Given the description of an element on the screen output the (x, y) to click on. 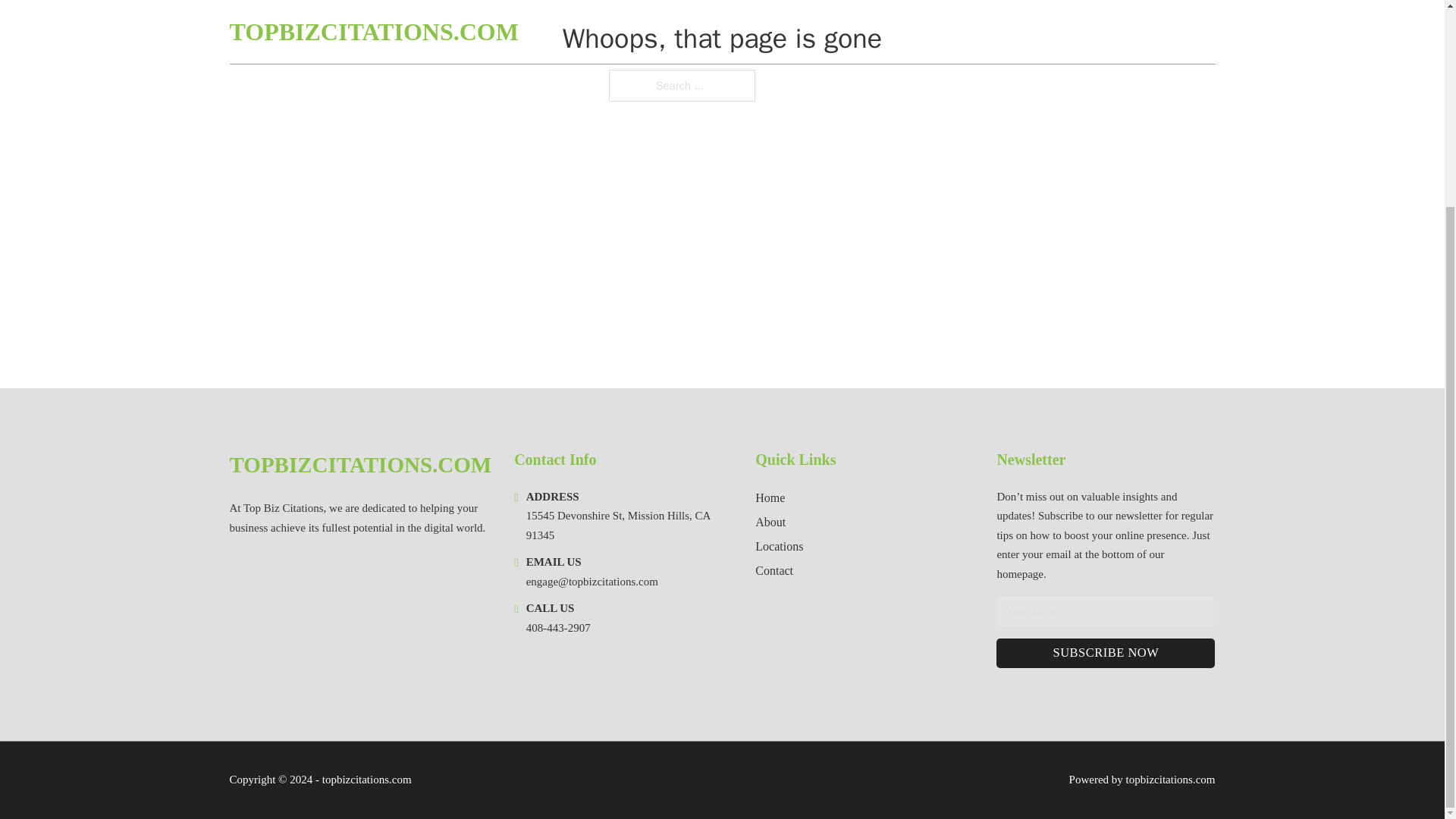
Locations (779, 546)
Contact (774, 570)
408-443-2907 (558, 627)
SUBSCRIBE NOW (1104, 653)
About (770, 521)
TOPBIZCITATIONS.COM (360, 465)
Home (769, 497)
